Given the description of an element on the screen output the (x, y) to click on. 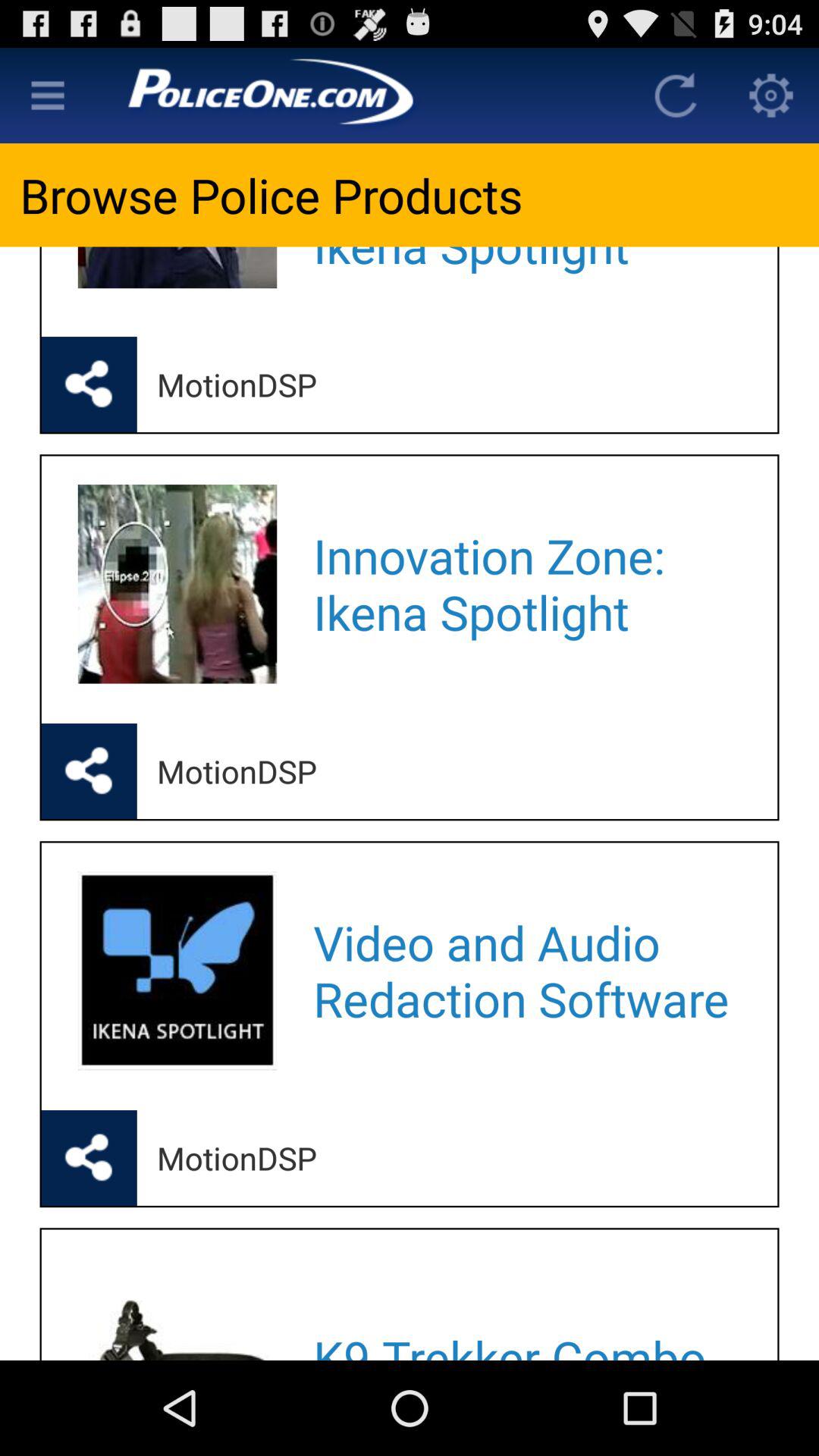
tap the attend an online app (525, 271)
